Given the description of an element on the screen output the (x, y) to click on. 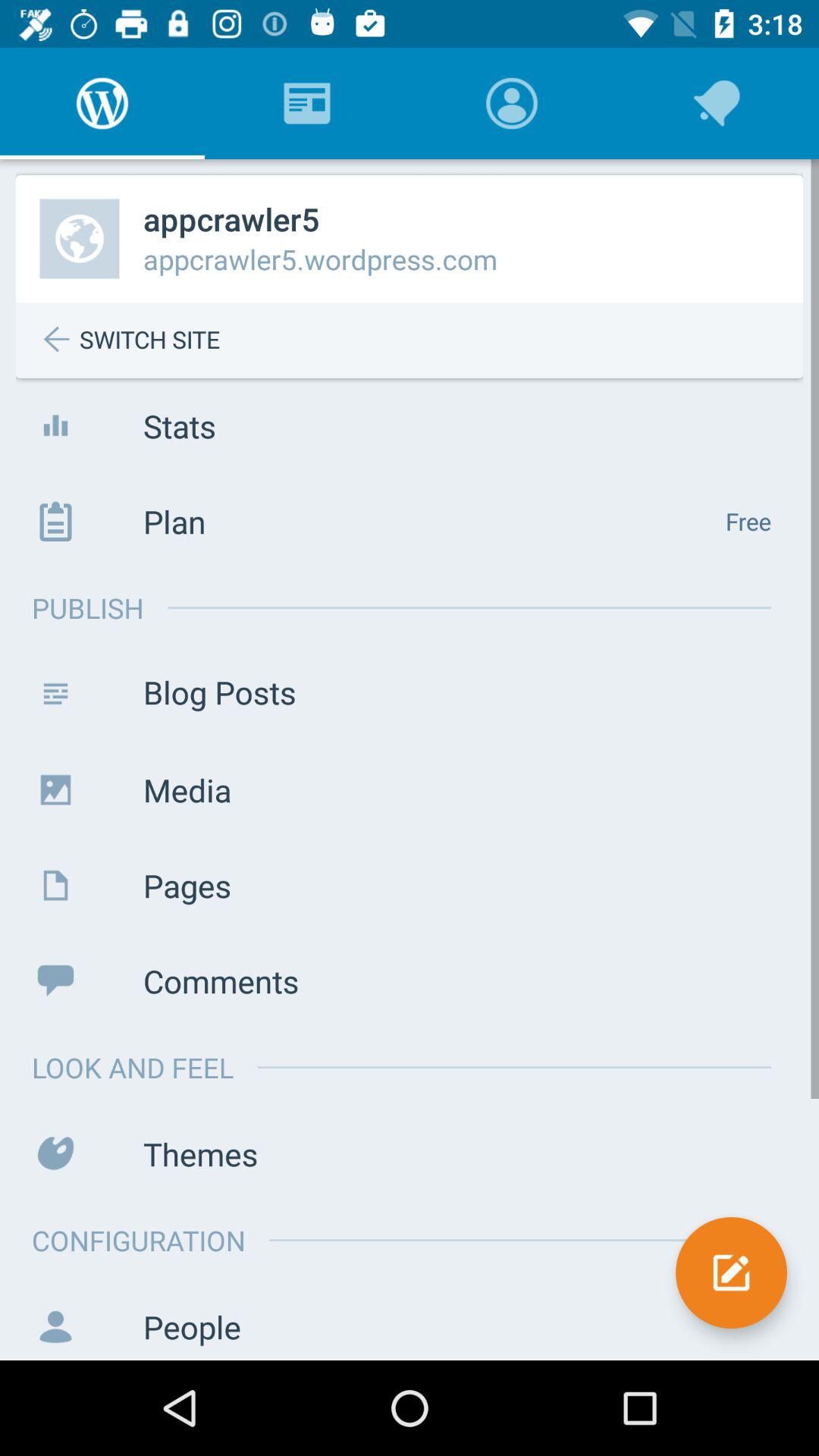
tap the icon to the right of the configuration icon (731, 1272)
